Given the description of an element on the screen output the (x, y) to click on. 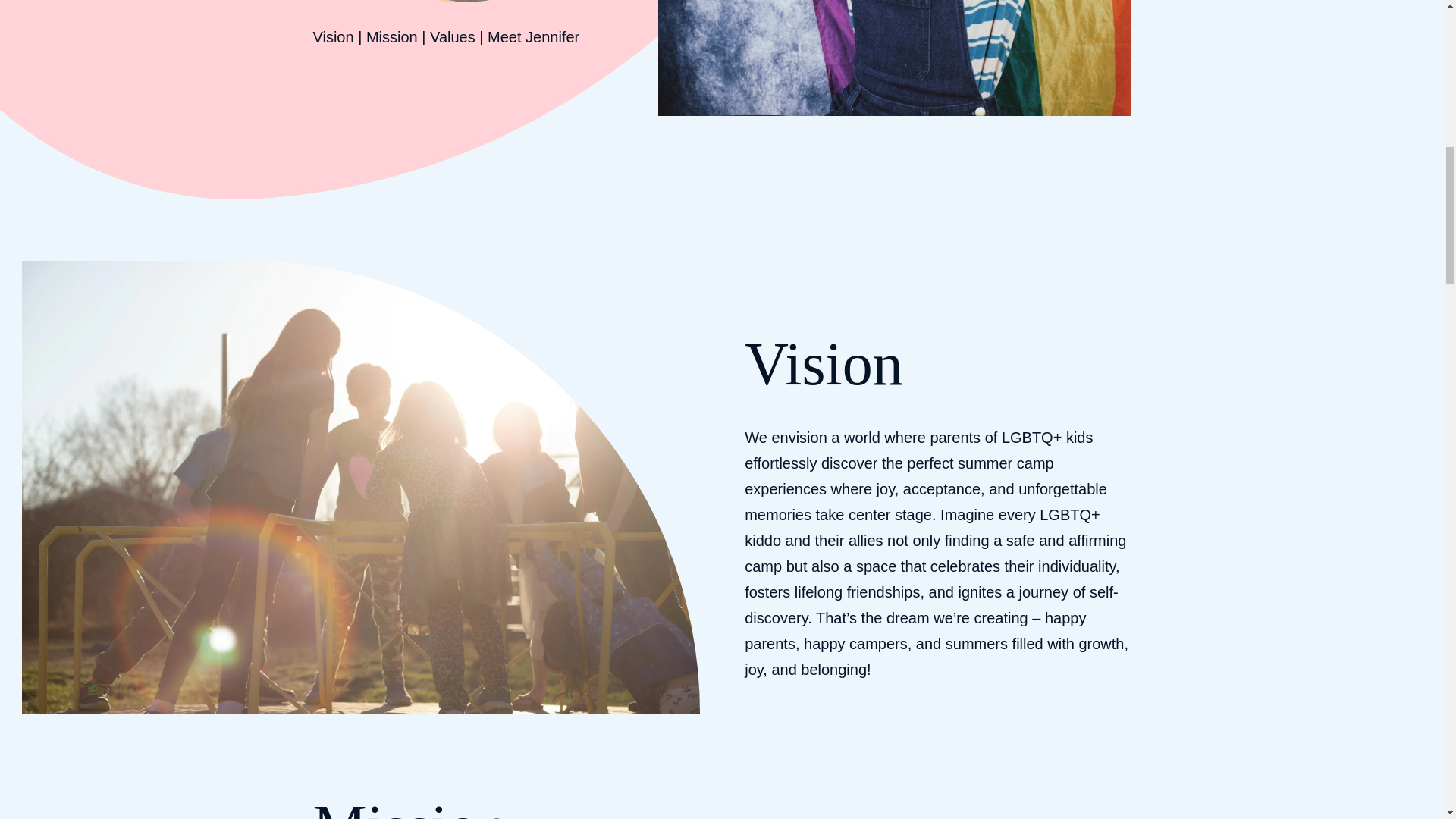
936fe645-381a-4a36-af95-e36167117ad6 (894, 58)
